Given the description of an element on the screen output the (x, y) to click on. 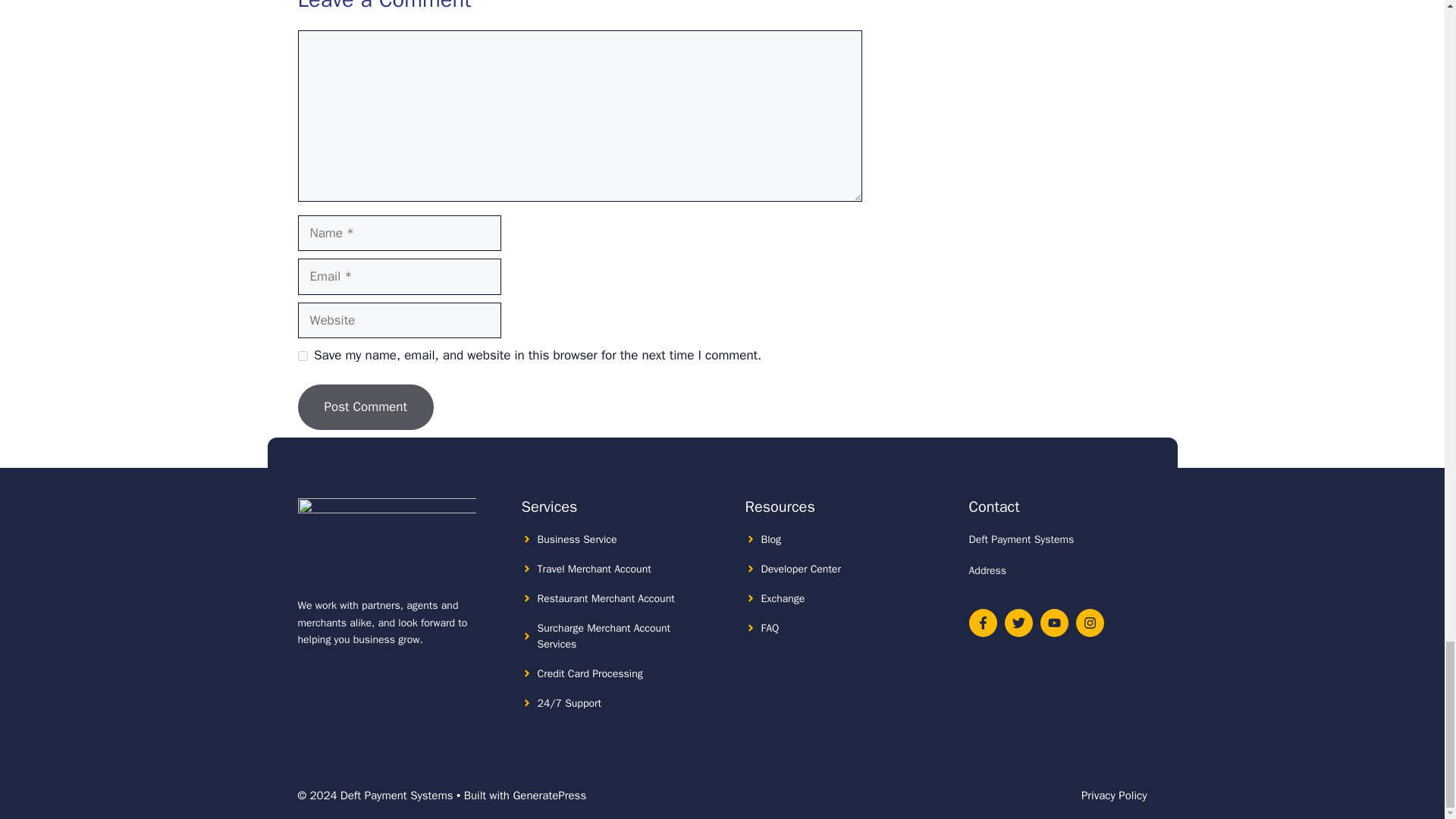
Restaurant Merchant Account (605, 598)
Post Comment (364, 406)
Blog (771, 539)
Credit Card Processing (589, 673)
Post Comment (364, 406)
Surcharge Merchant Account Services (603, 635)
yes (302, 356)
Travel Merchant Account (593, 568)
